Given the description of an element on the screen output the (x, y) to click on. 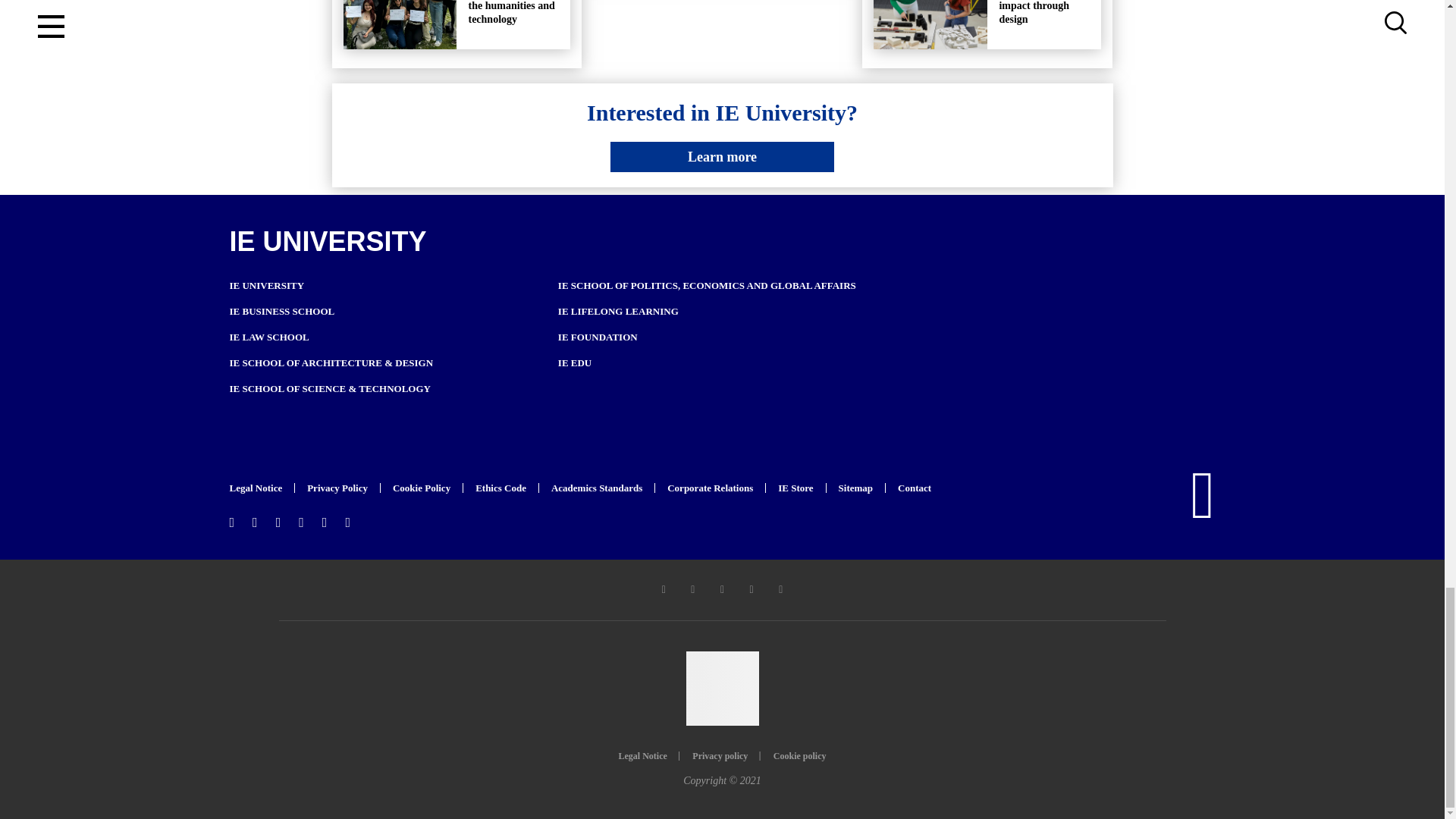
IE UNIVERSITY (266, 285)
3 (930, 24)
Learn more (722, 156)
